Given the description of an element on the screen output the (x, y) to click on. 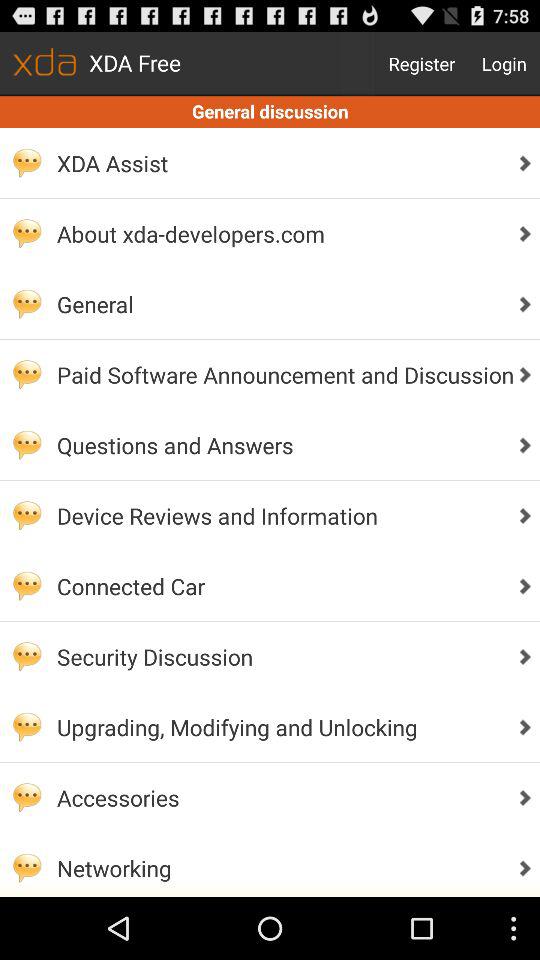
scroll until register (421, 63)
